Given the description of an element on the screen output the (x, y) to click on. 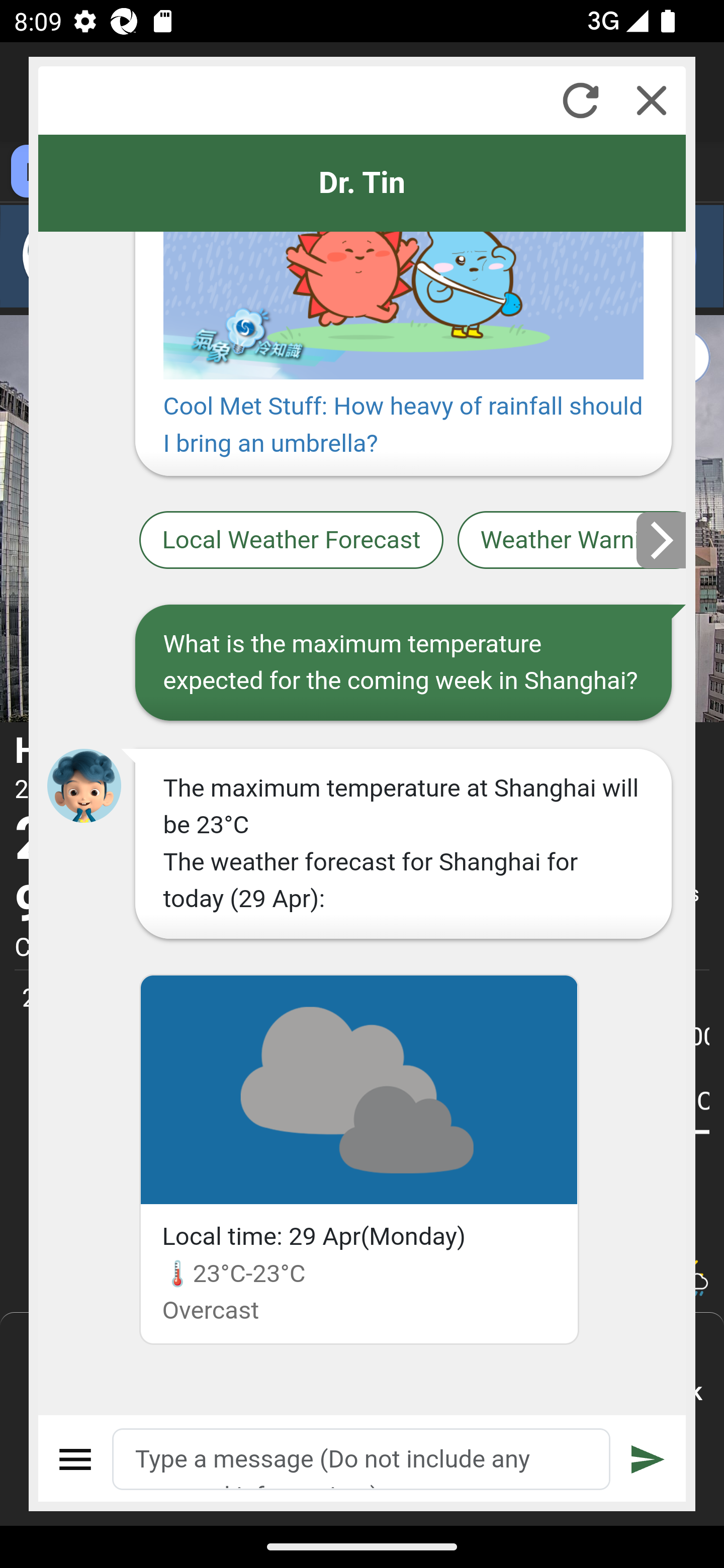
Refresh (580, 100)
Close (651, 100)
Local Weather Forecast (291, 540)
Weather Warnings (571, 540)
Next slide (661, 540)
Menu (75, 1458)
Submit (648, 1458)
